Given the description of an element on the screen output the (x, y) to click on. 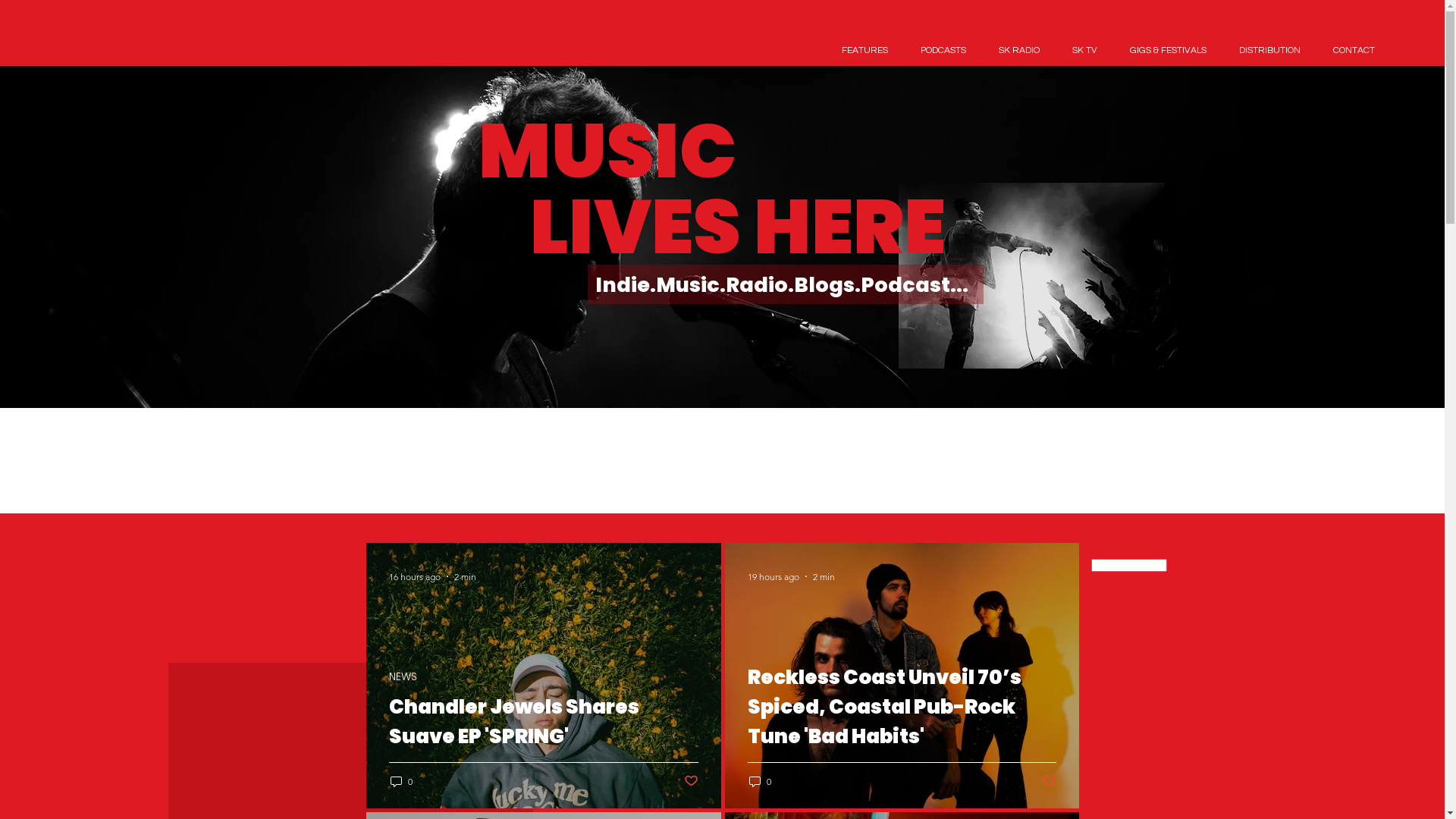
SK RADIO Element type: text (1018, 50)
SK TV Element type: text (1084, 50)
Post not marked as liked Element type: text (691, 781)
NEWS Element type: text (402, 676)
FEATURES Element type: text (864, 50)
DISTRIBUTION Element type: text (1269, 50)
CONTACT Element type: text (1353, 50)
Chandler Jewels Shares Suave EP 'SPRING' Element type: text (542, 739)
0 Element type: text (400, 781)
0 Element type: text (759, 781)
GIGS & FESTIVALS Element type: text (1167, 50)
Post not marked as liked Element type: text (1048, 781)
PODCASTS Element type: text (943, 50)
